Given the description of an element on the screen output the (x, y) to click on. 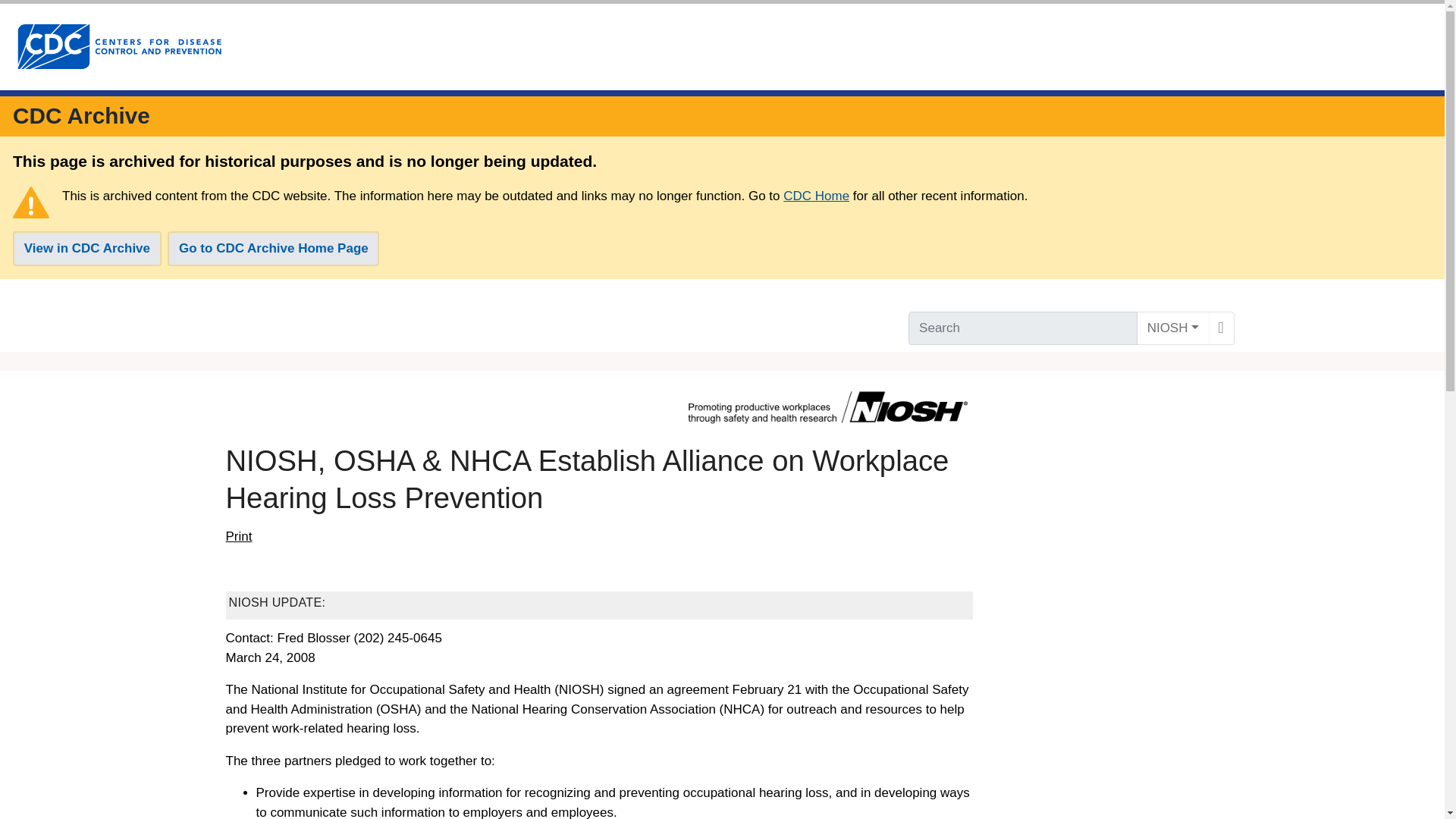
CDC Archive (81, 115)
CDC Home (815, 196)
CDC Archive Home (81, 115)
Go to CDC Archive Home Page (272, 248)
Print (238, 537)
NIOSH (1173, 328)
View in CDC Archive (87, 248)
Submit (1221, 328)
